Given the description of an element on the screen output the (x, y) to click on. 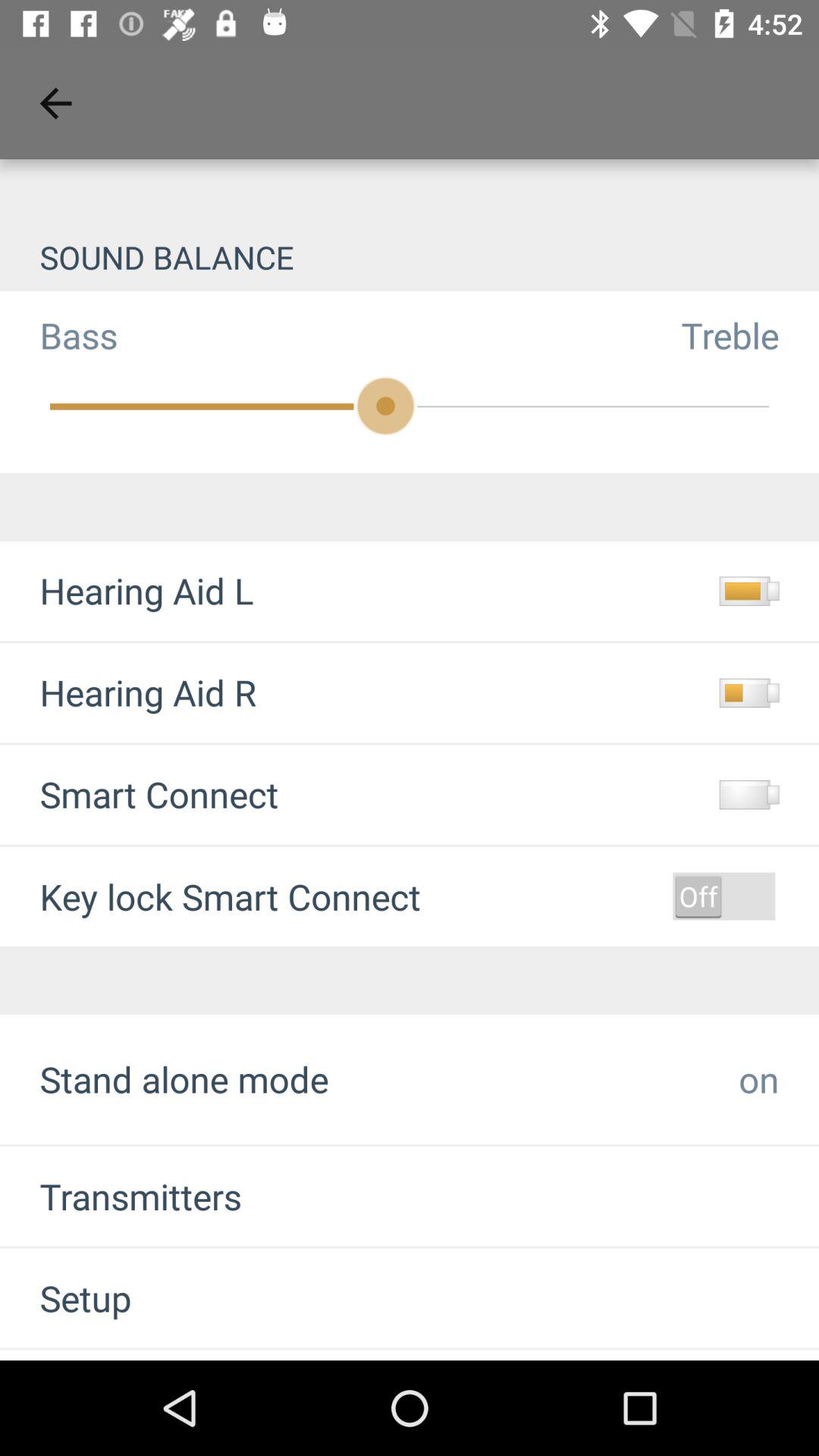
click the item to the right of key lock smart icon (723, 896)
